Given the description of an element on the screen output the (x, y) to click on. 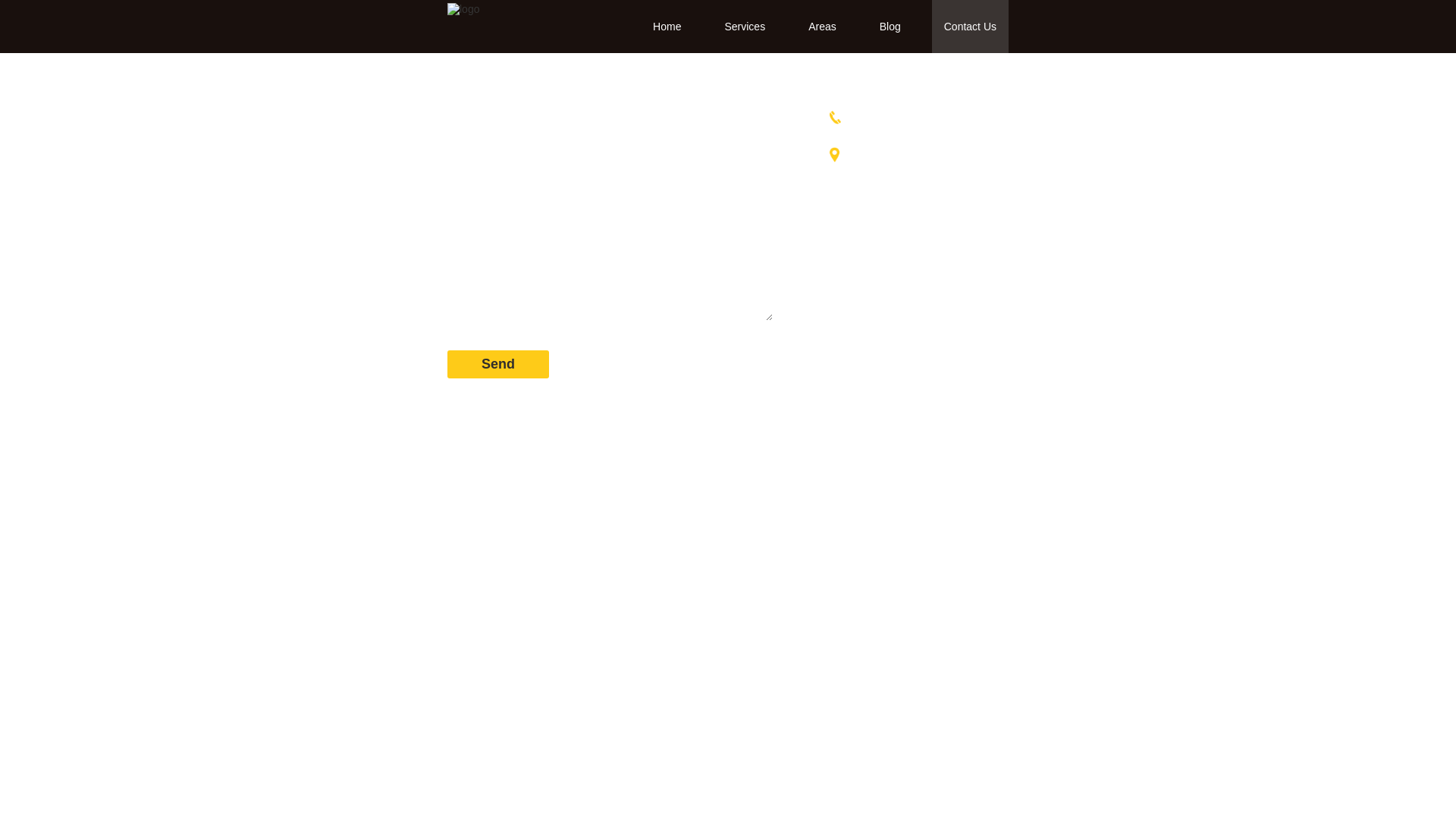
Contact Us Element type: text (969, 26)
Blog Element type: text (890, 26)
Home Element type: text (666, 26)
Areas Element type: text (822, 26)
Send Element type: text (498, 364)
Services Element type: text (744, 26)
(937) 563-4708 Element type: text (919, 116)
